Given the description of an element on the screen output the (x, y) to click on. 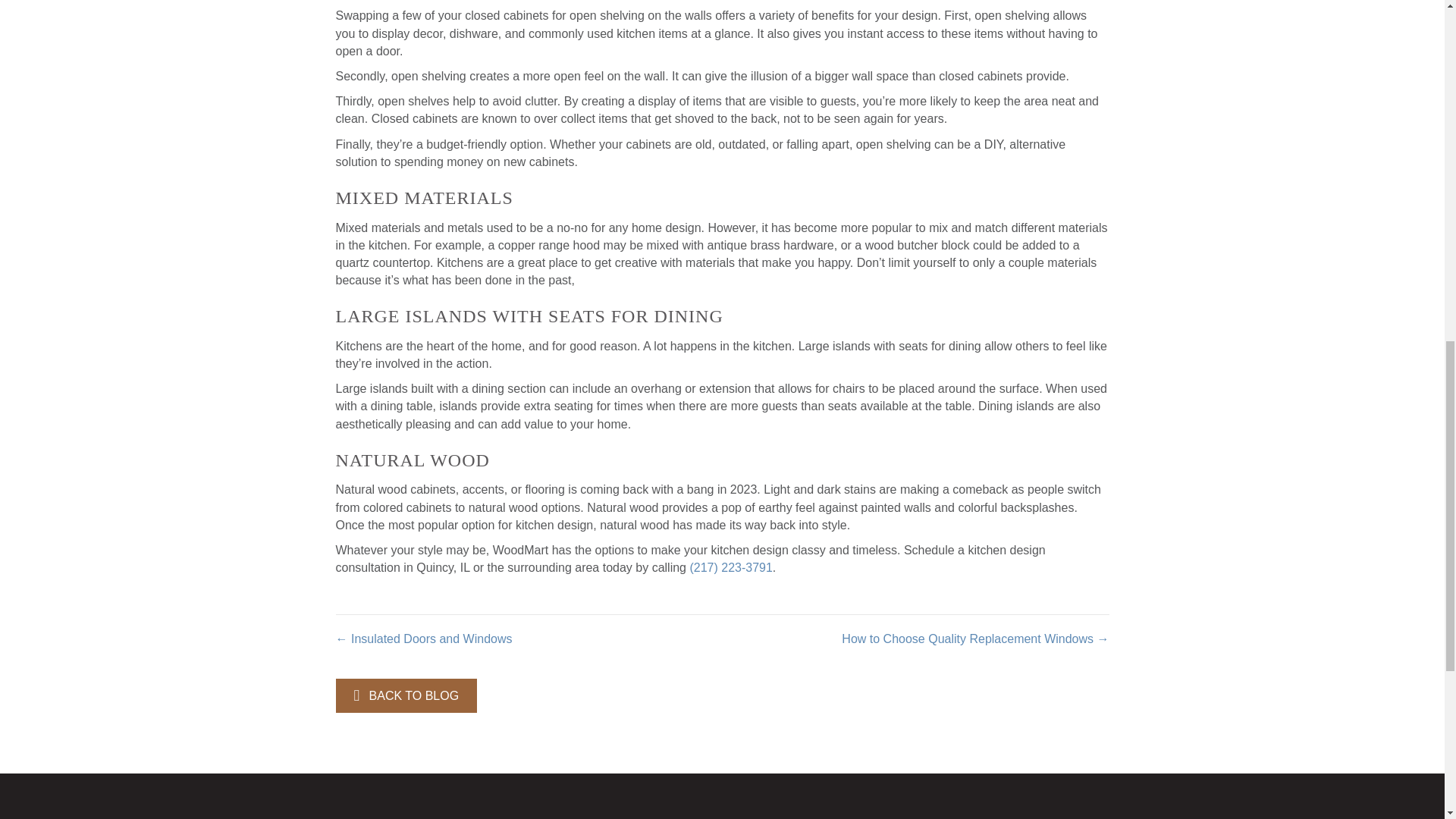
Call WoodMart (729, 567)
BACK TO BLOG (405, 695)
